Given the description of an element on the screen output the (x, y) to click on. 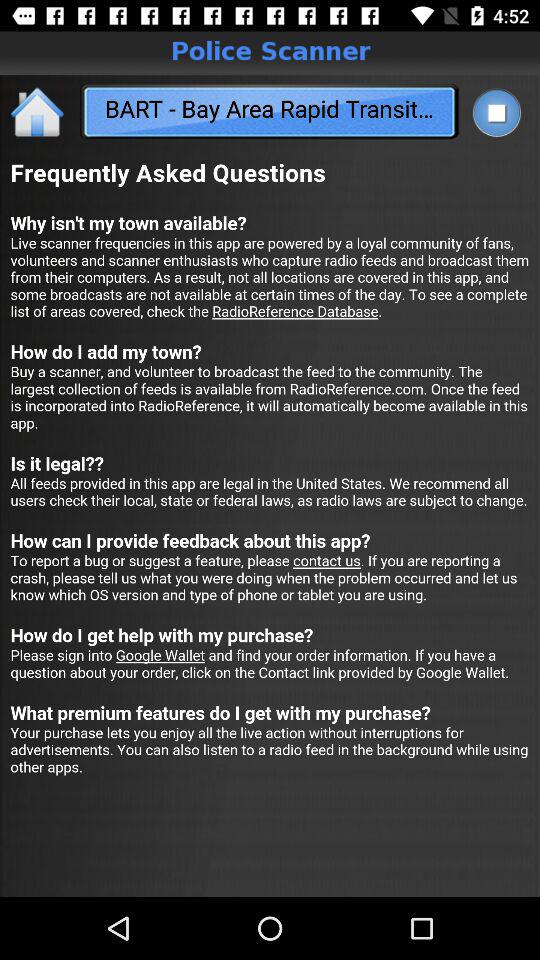
stop audio (496, 111)
